Given the description of an element on the screen output the (x, y) to click on. 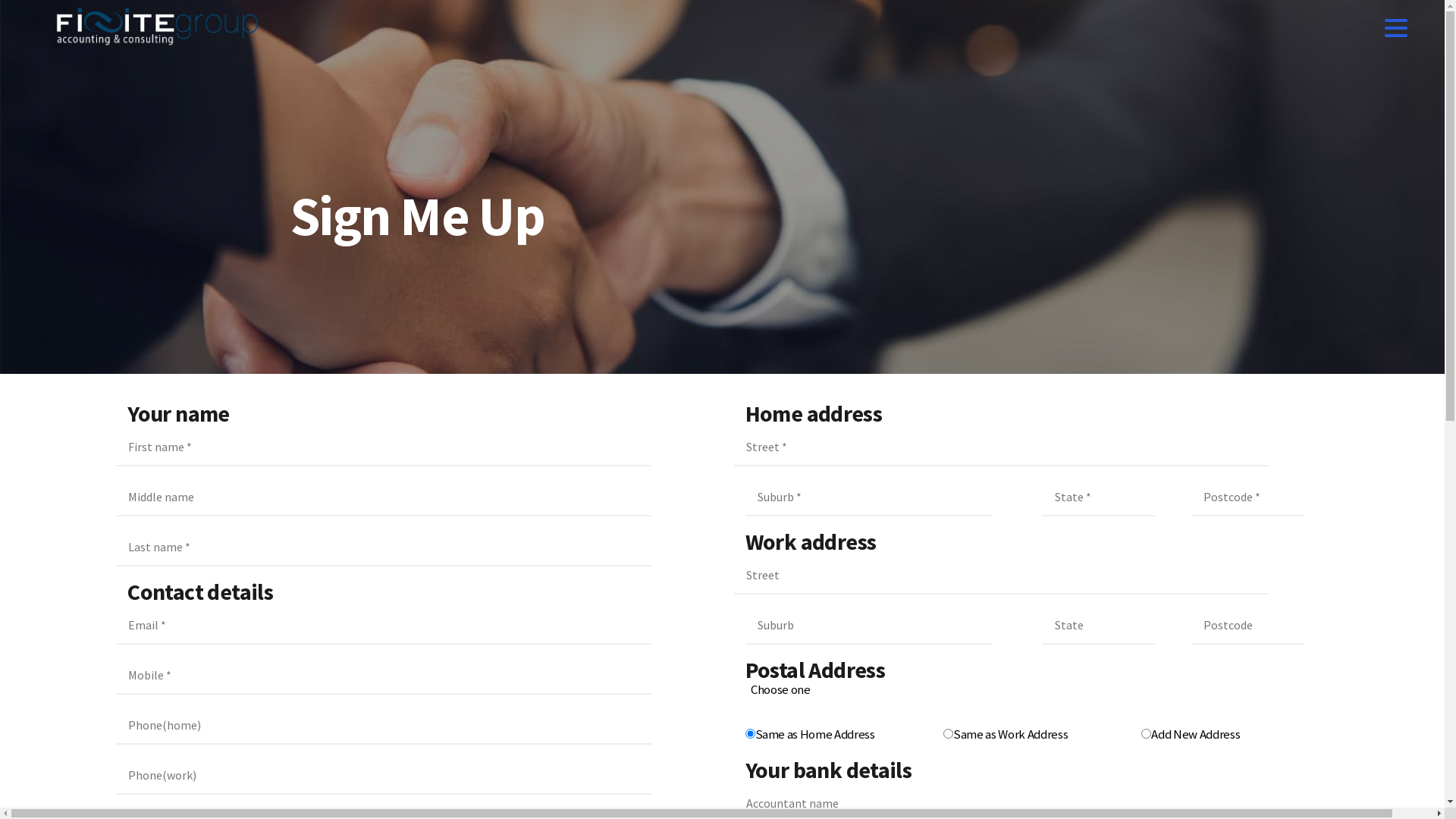
Same as Home Address Element type: text (749, 733)
Same as Work Address Element type: text (948, 733)
Add New Address Element type: text (1146, 733)
